Given the description of an element on the screen output the (x, y) to click on. 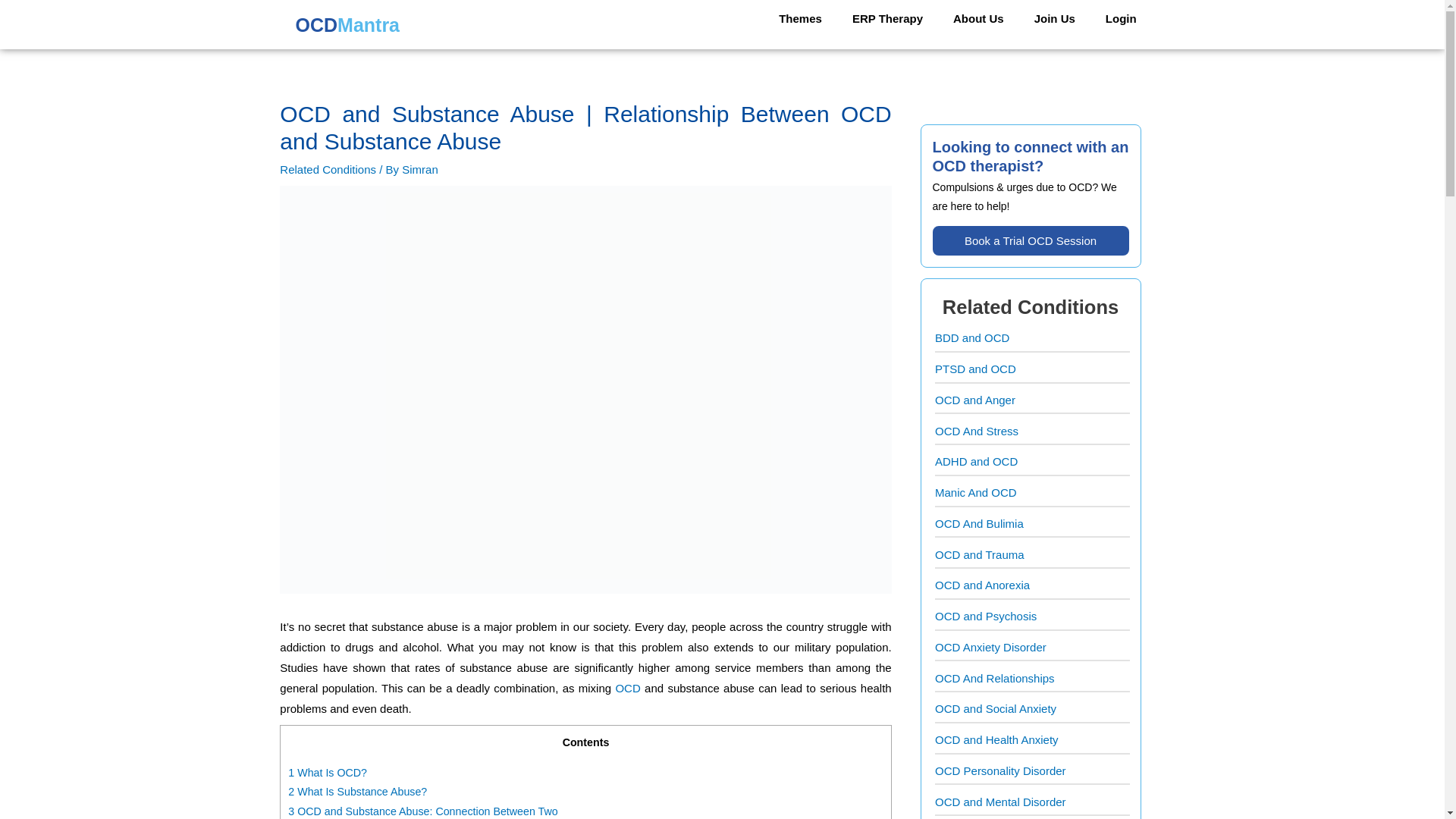
OCDMantra (344, 27)
ERP Therapy (887, 18)
OCD (627, 687)
Join Us (1054, 18)
View all posts by Simran (419, 169)
About Us (978, 18)
Login (1120, 18)
Themes (799, 18)
